Given the description of an element on the screen output the (x, y) to click on. 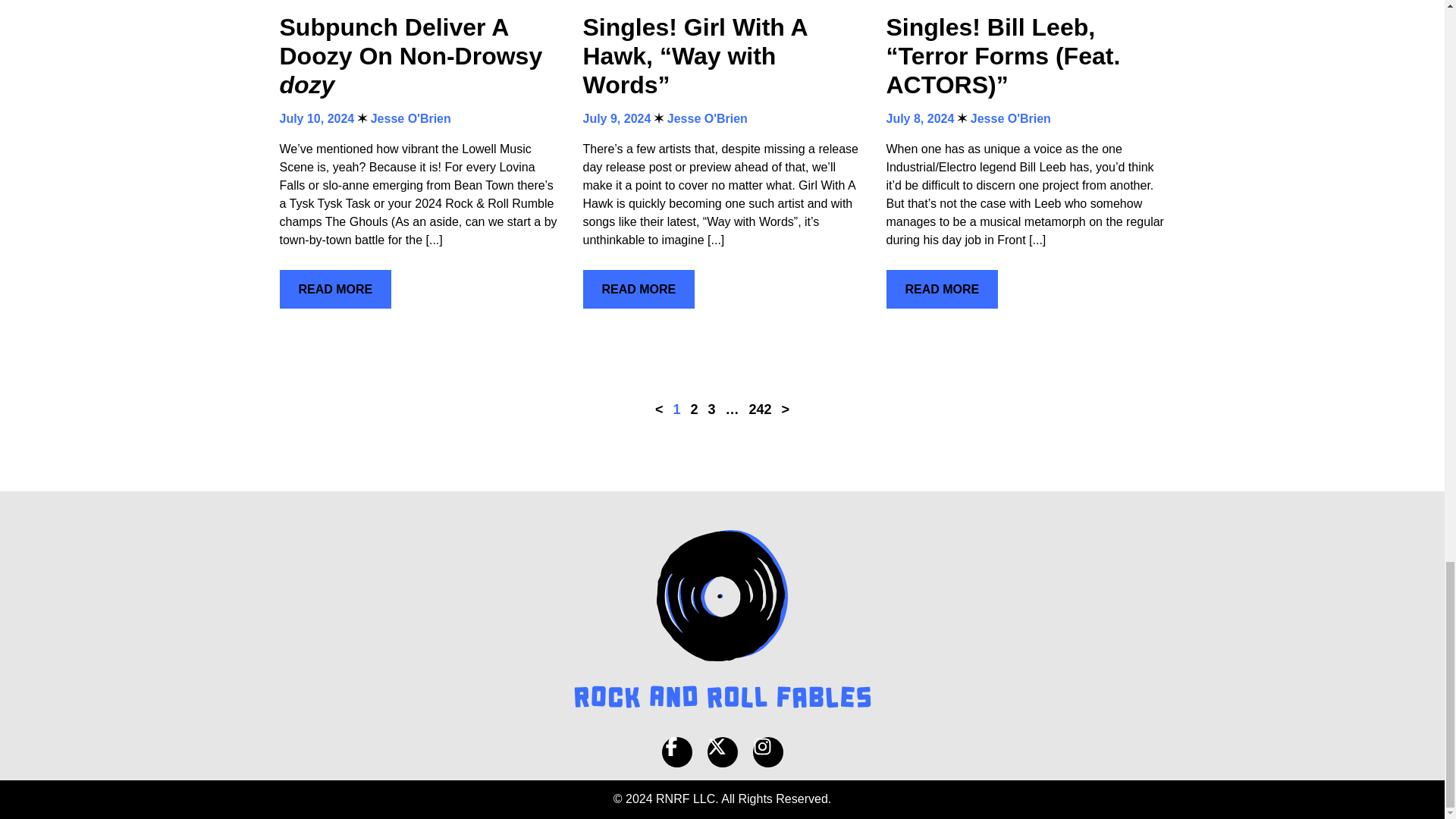
242 (760, 409)
